Given the description of an element on the screen output the (x, y) to click on. 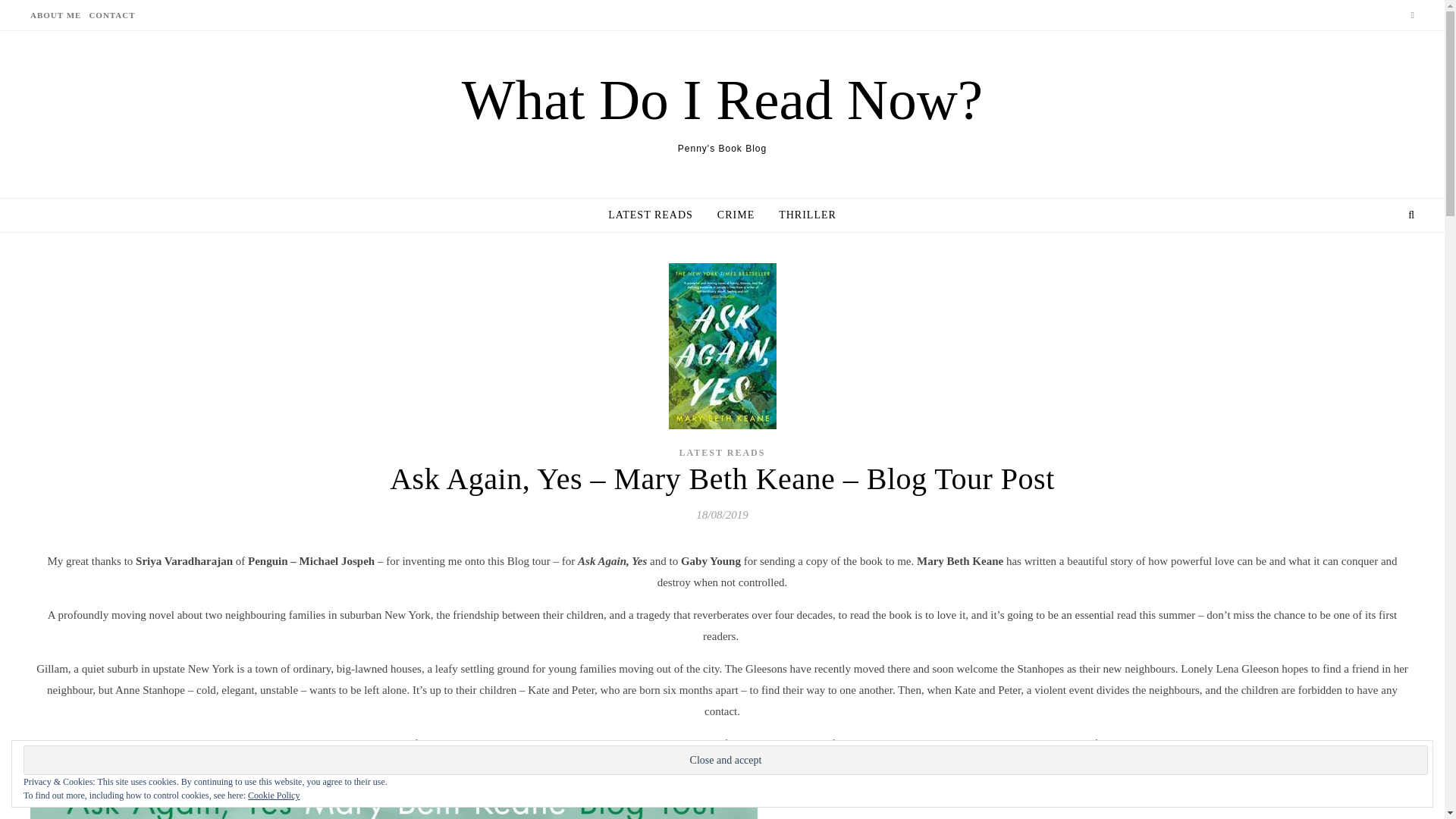
THRILLER (801, 215)
CRIME (735, 215)
LATEST READS (656, 215)
Close and accept (725, 759)
LATEST READS (722, 452)
What Do I Read Now? (721, 99)
ABOUT ME (57, 15)
CONTACT (109, 15)
